Given the description of an element on the screen output the (x, y) to click on. 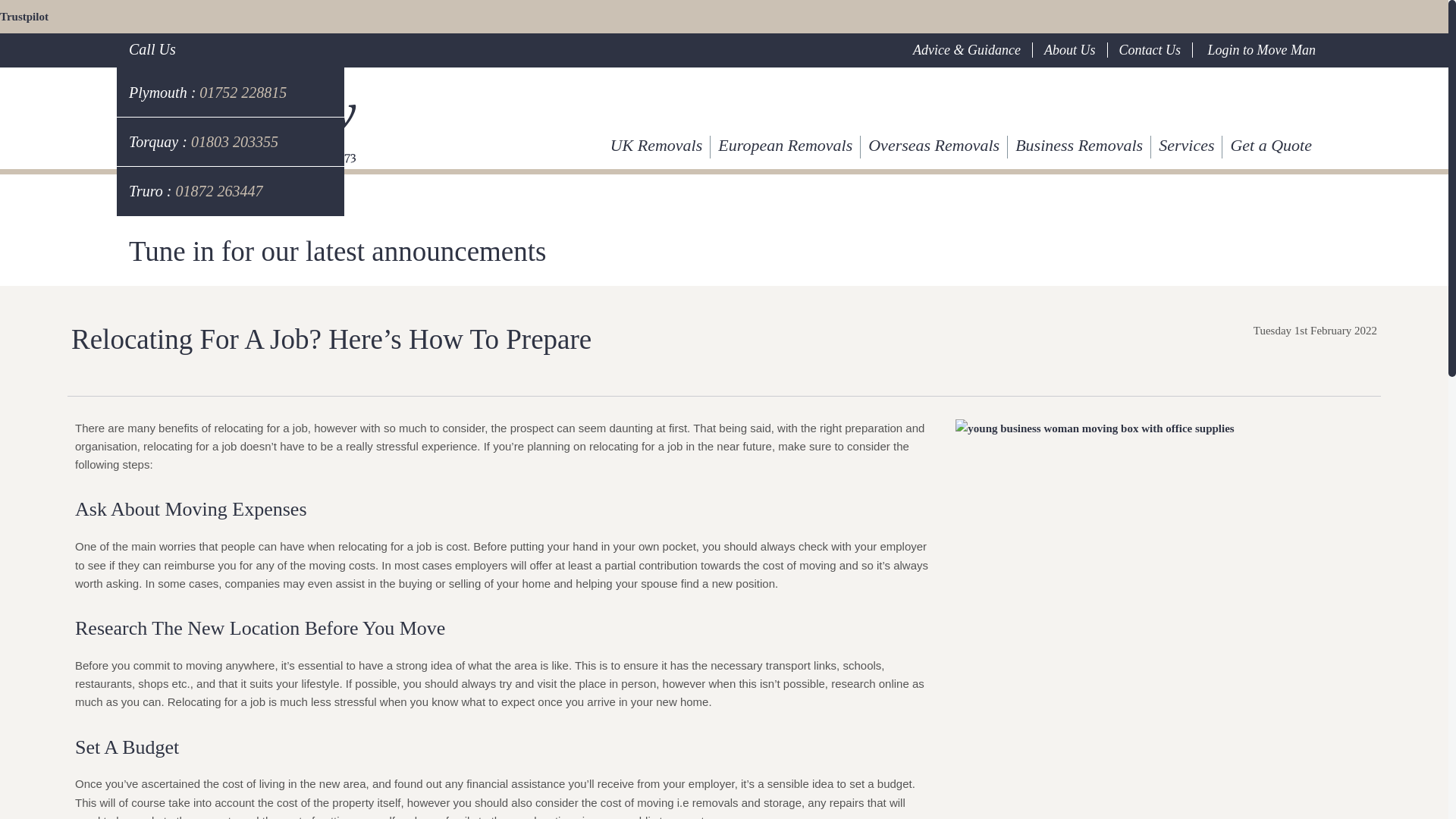
Call Us (152, 48)
Business Removals (1079, 144)
European Removals (785, 144)
Overseas Removals (933, 144)
About Us (1072, 50)
Follow us on Twitter (1269, 101)
Find us on Facebook (1154, 101)
Trustpilot (24, 16)
UK Removals (656, 144)
Get a Quote (1271, 144)
Truro : 01872 263447 (229, 191)
Login to Move Man (1257, 50)
European Removals (785, 144)
Contact Us (1152, 50)
Services (1187, 144)
